Given the description of an element on the screen output the (x, y) to click on. 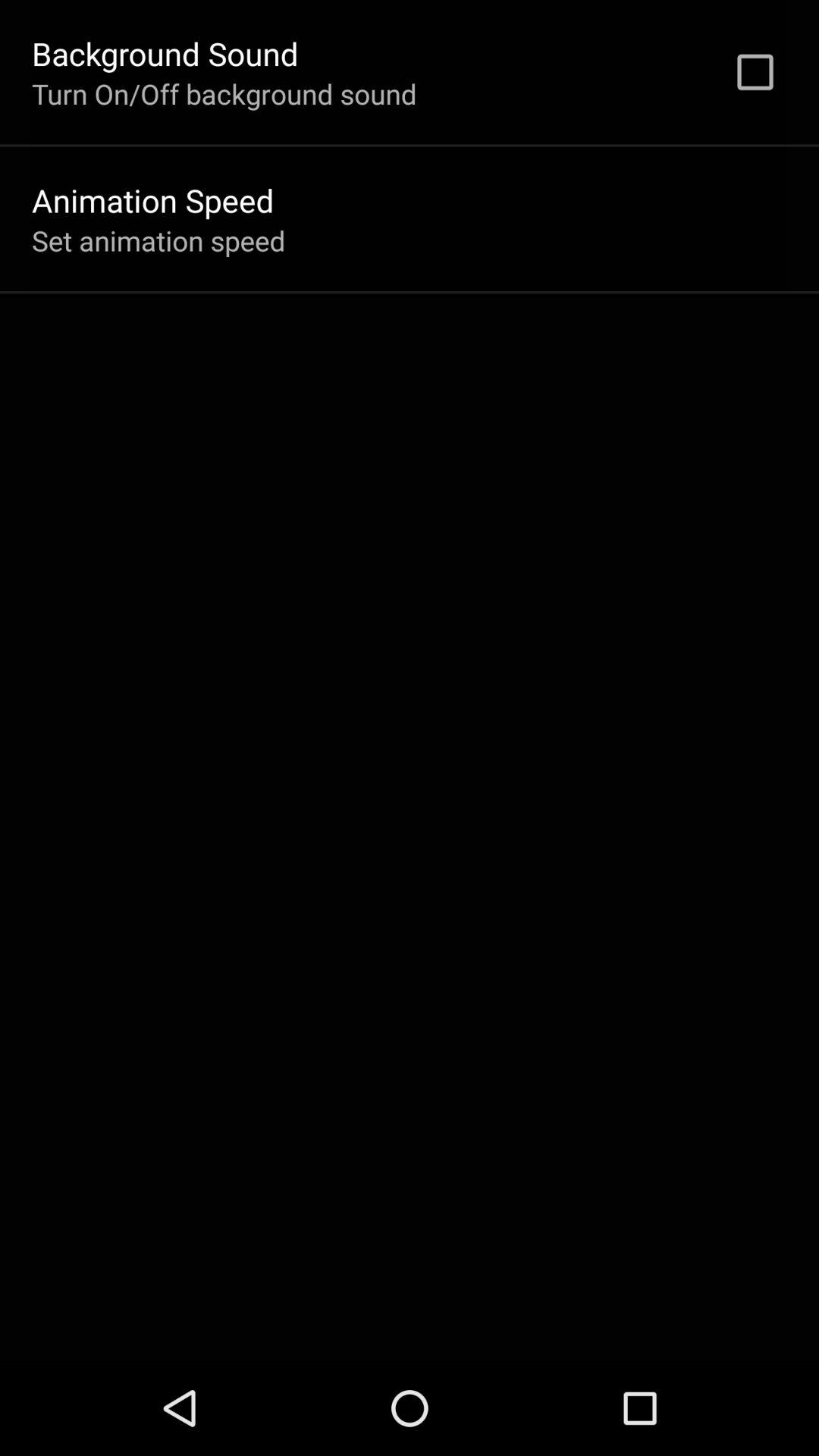
press the icon at the top right corner (755, 72)
